Given the description of an element on the screen output the (x, y) to click on. 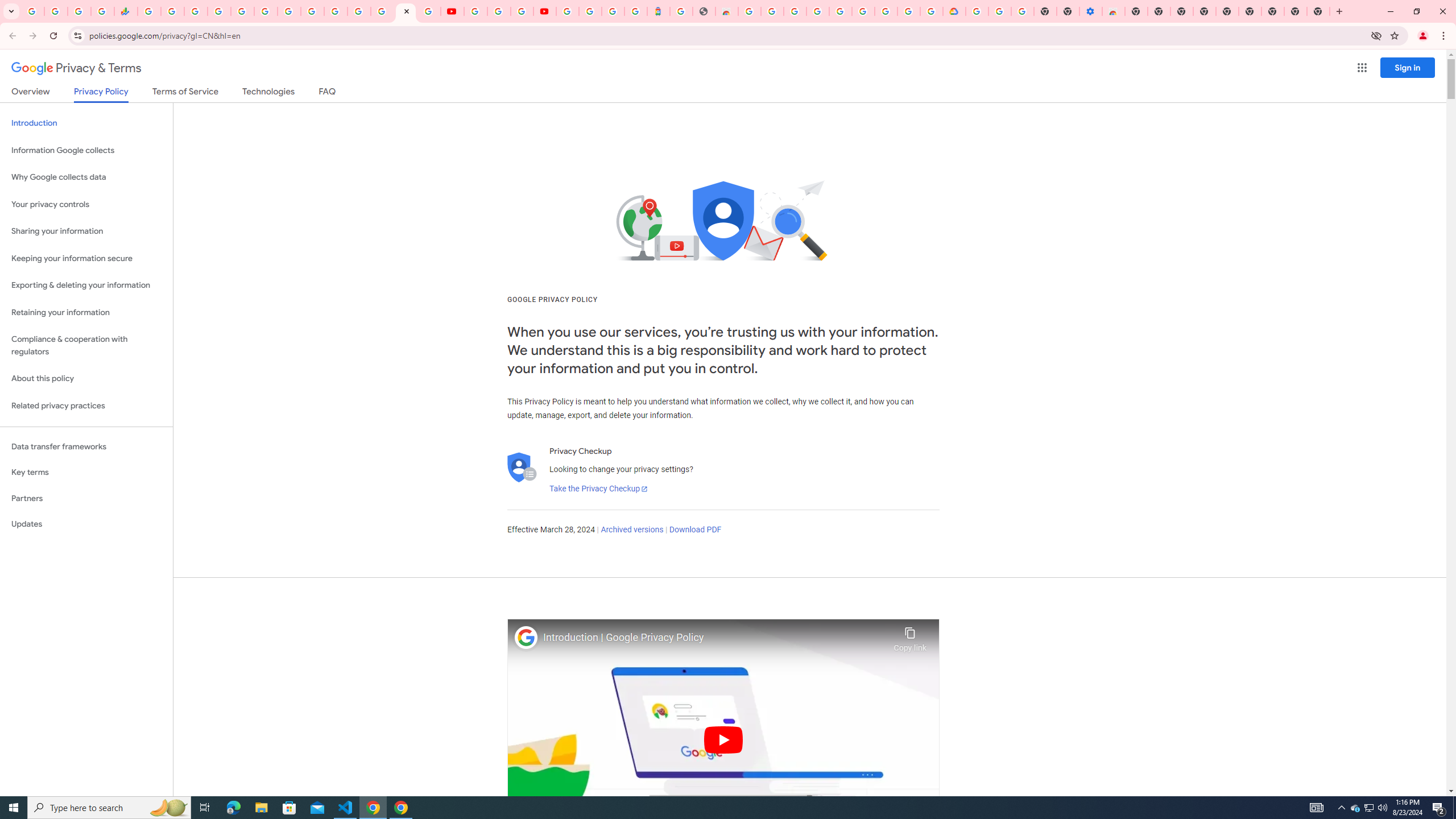
Retaining your information (86, 312)
Partners (86, 497)
Data transfer frameworks (86, 446)
Compliance & cooperation with regulators (86, 345)
YouTube (312, 11)
Sign in - Google Accounts (567, 11)
Sign in - Google Accounts (976, 11)
Your privacy controls (86, 204)
Keeping your information secure (86, 258)
Exporting & deleting your information (86, 284)
Information Google collects (86, 150)
